Given the description of an element on the screen output the (x, y) to click on. 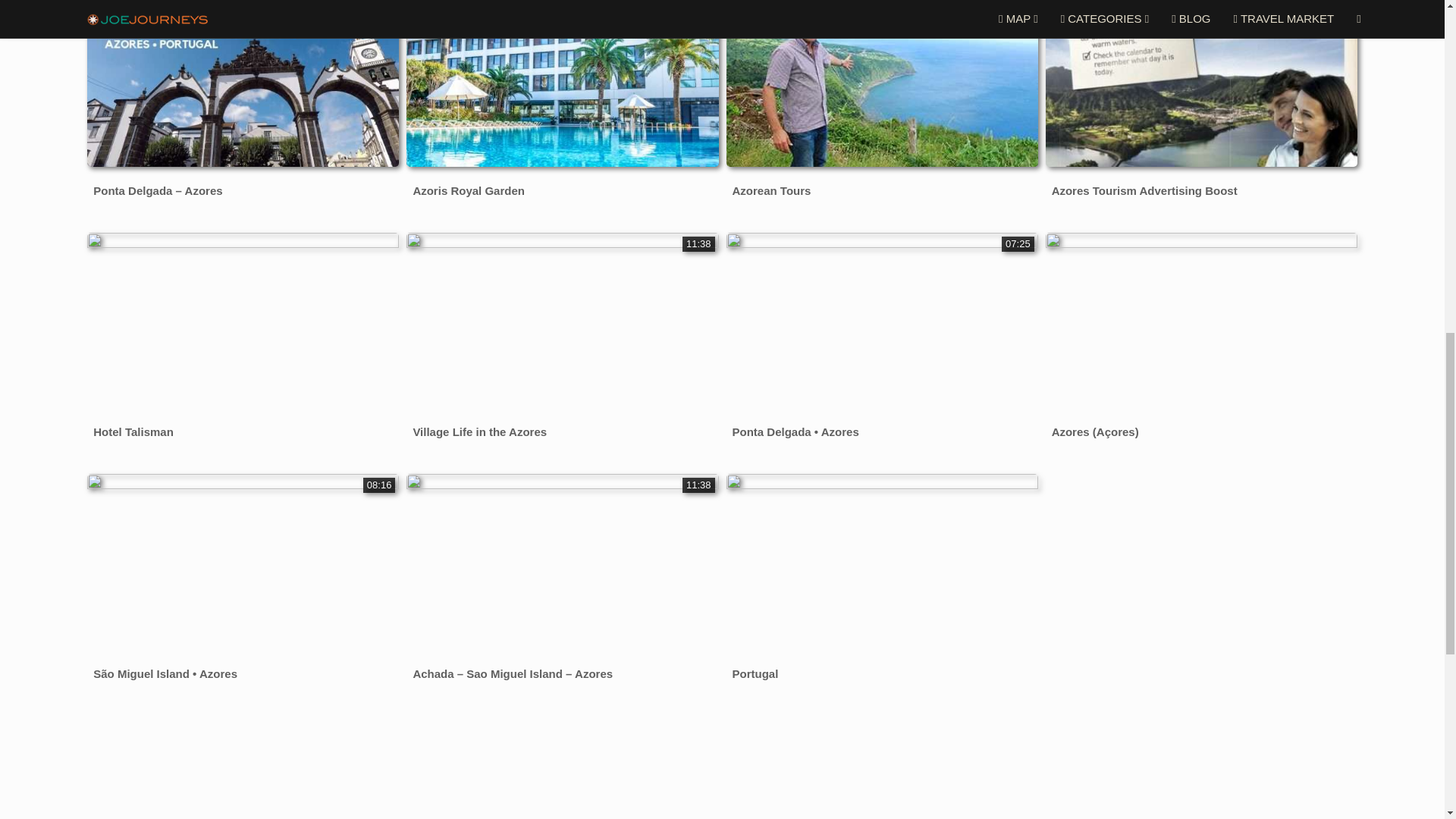
Portugal (755, 673)
Hotel Talisman (133, 431)
Village Life in the Azores (479, 431)
Azoris Royal Garden (468, 189)
Azorean Tours (771, 189)
Azores Tourism Advertising Boost (1144, 189)
